Given the description of an element on the screen output the (x, y) to click on. 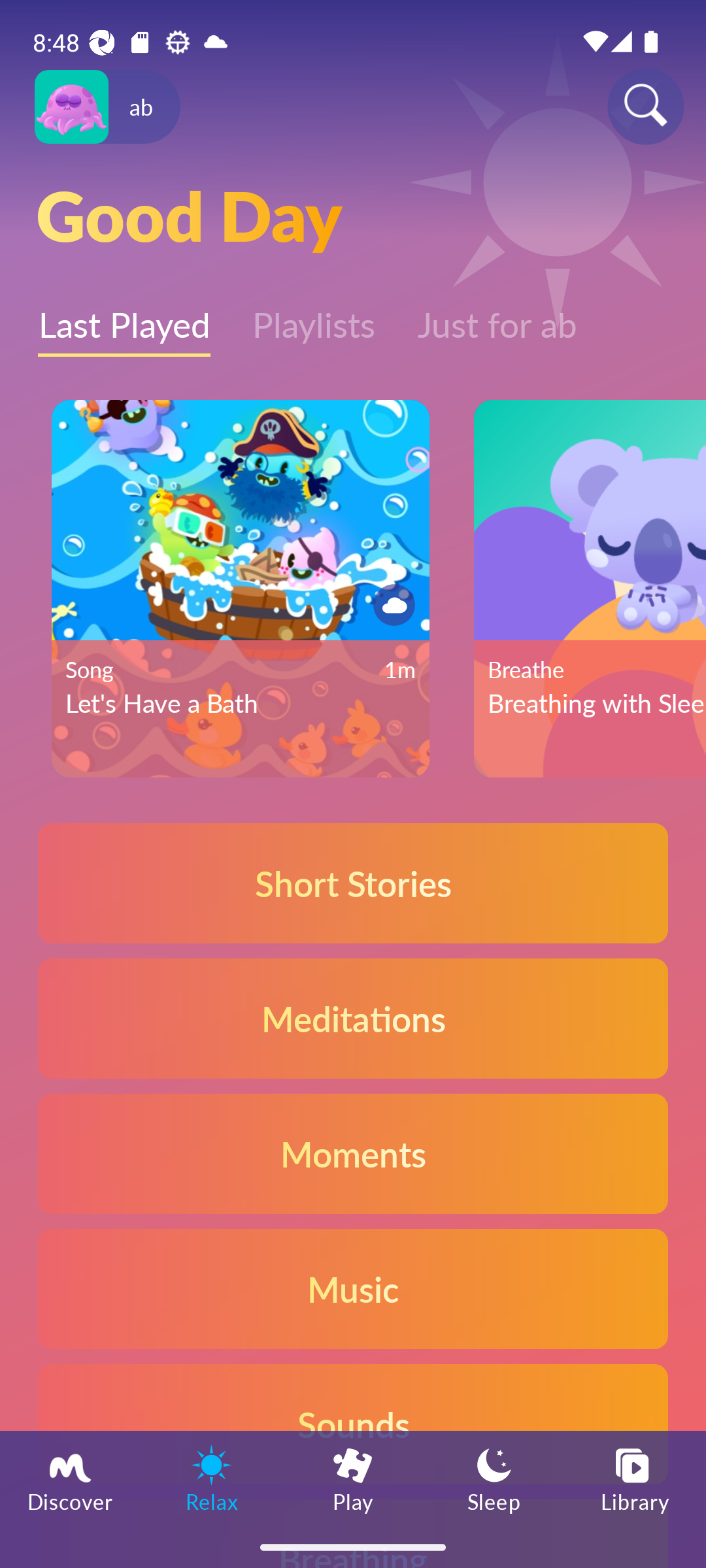
Profile icon ab (107, 107)
Playlists (313, 315)
Just for ab (497, 315)
Featured Content Button Song Let's Have a Bath 1m (240, 588)
Featured Content Breathe Breathing with SleepyPaws (589, 588)
Button (391, 605)
Short Stories (352, 883)
Meditations (352, 1017)
Moments (352, 1152)
Music (352, 1288)
Discover (70, 1478)
Play (352, 1478)
Sleep (493, 1478)
Library (635, 1478)
